Given the description of an element on the screen output the (x, y) to click on. 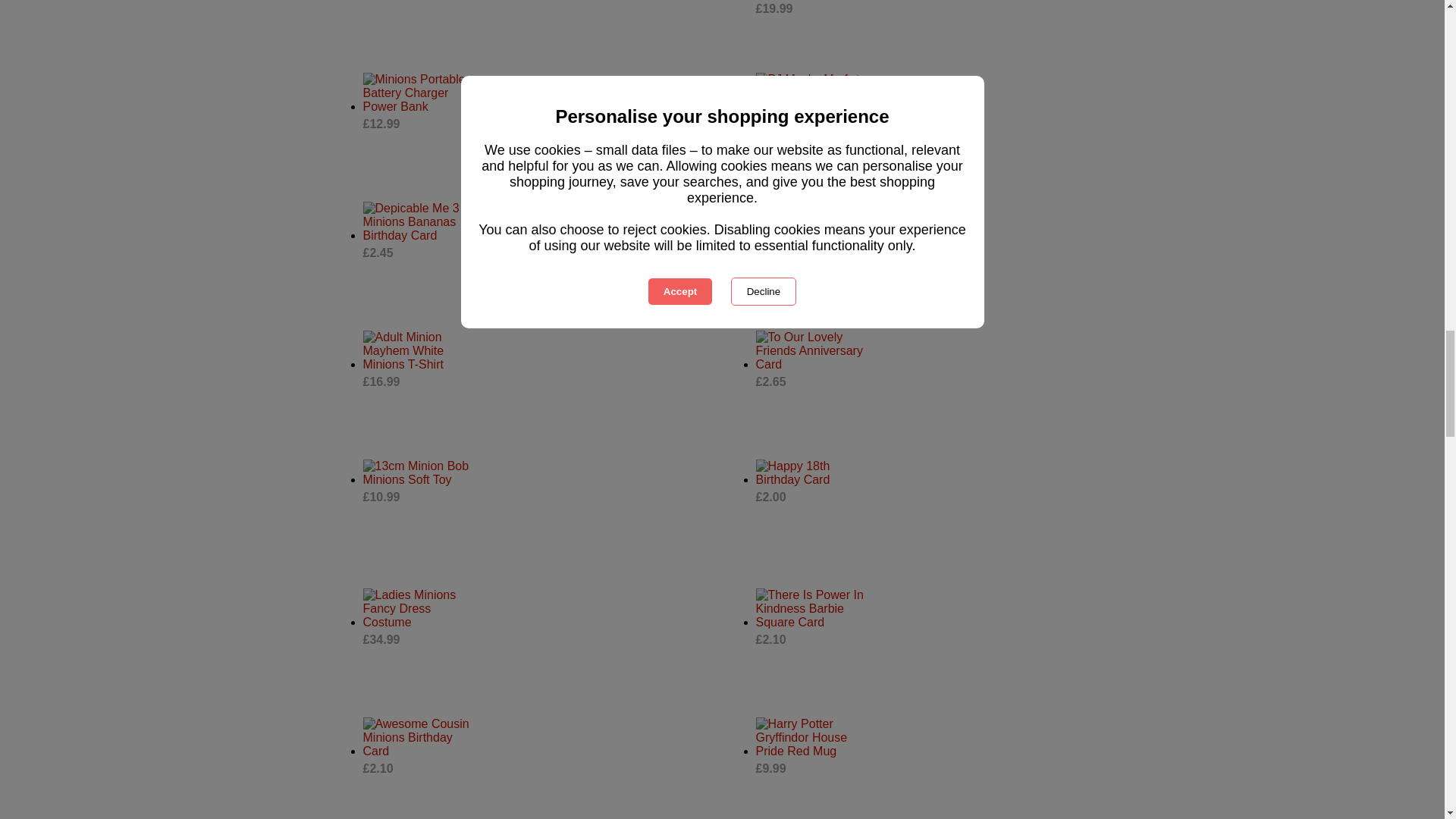
Awesome Cousin Minions Birthday Card (416, 737)
13cm Minion Bob Minions Soft Toy (416, 472)
Minions Portable Battery Charger Power Bank (416, 92)
 Ladies Minions Fancy Dress Costume (416, 608)
Depicable Me 3 Minions Bananas Birthday Card (416, 221)
Adult Minion Mayhem White Minions T-Shirt (416, 350)
